Given the description of an element on the screen output the (x, y) to click on. 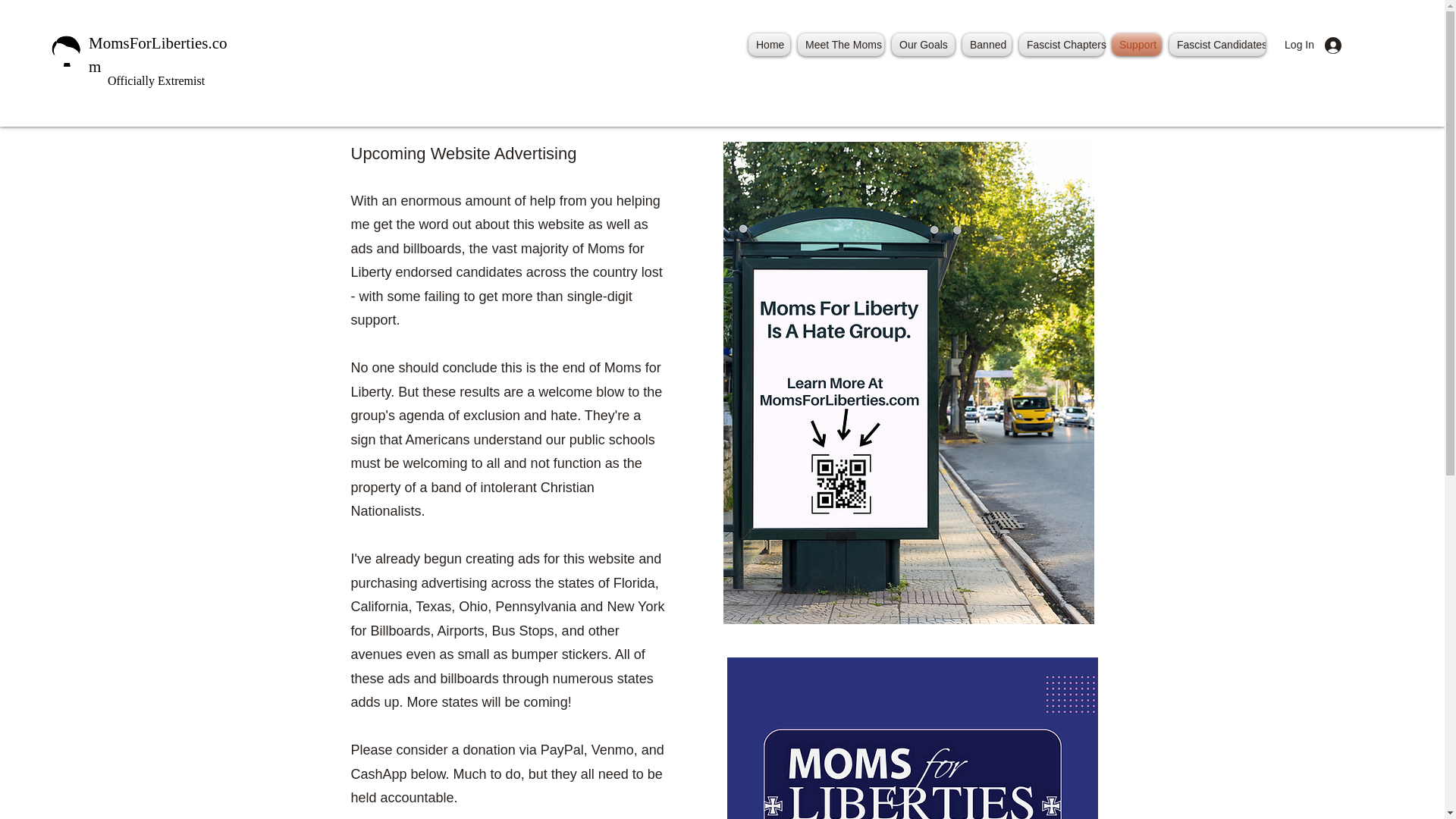
Fascist Candidates (1215, 44)
Officially Extremist (156, 80)
Home (768, 44)
Our Goals (923, 44)
Log In (1314, 44)
Support (1137, 44)
Fascist Chapters (1061, 44)
Meet The Moms (840, 44)
MomsForLiberties.com (157, 55)
Banned (986, 44)
